Given the description of an element on the screen output the (x, y) to click on. 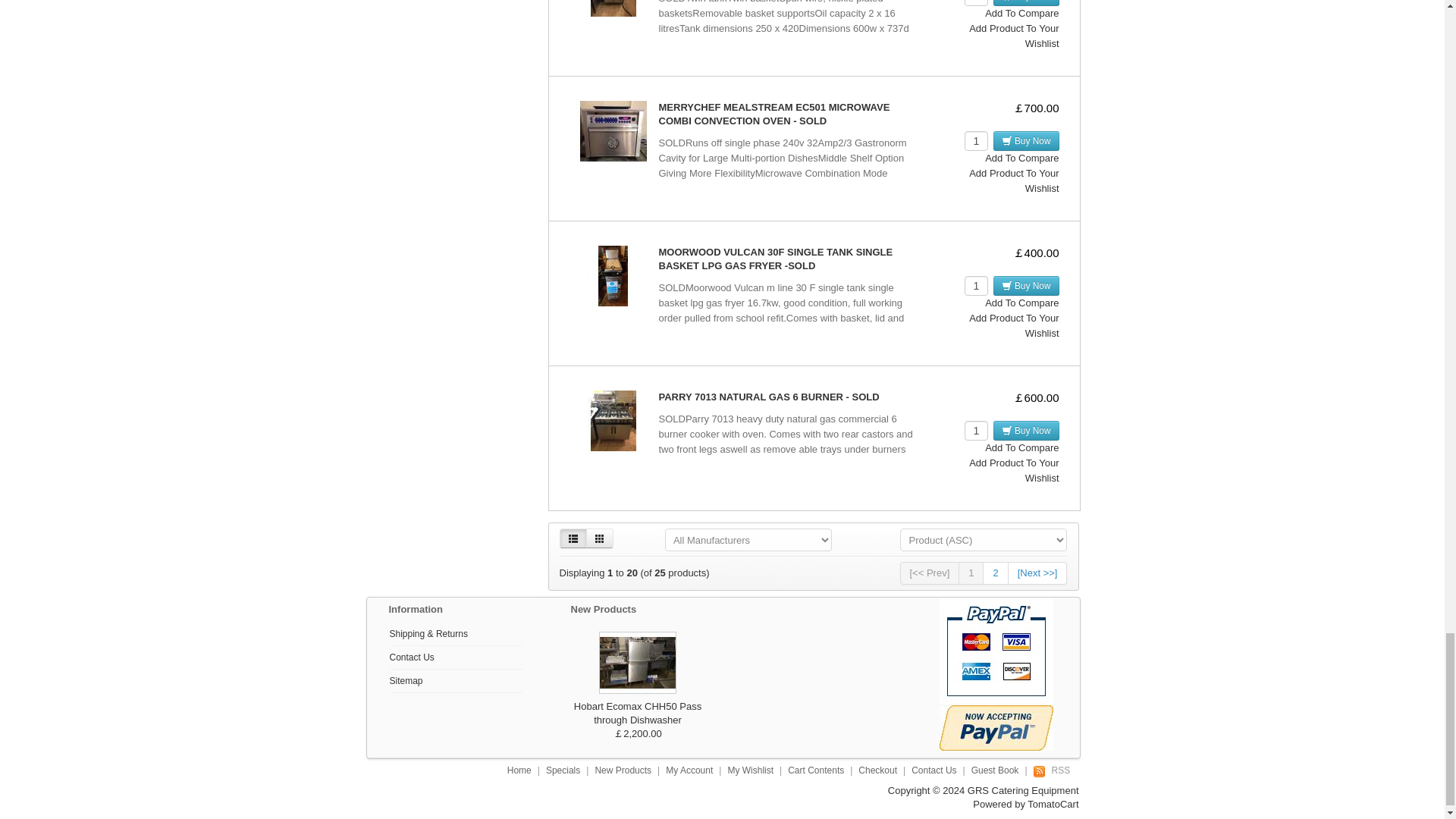
1 (975, 140)
1 (975, 285)
1 (975, 2)
